Given the description of an element on the screen output the (x, y) to click on. 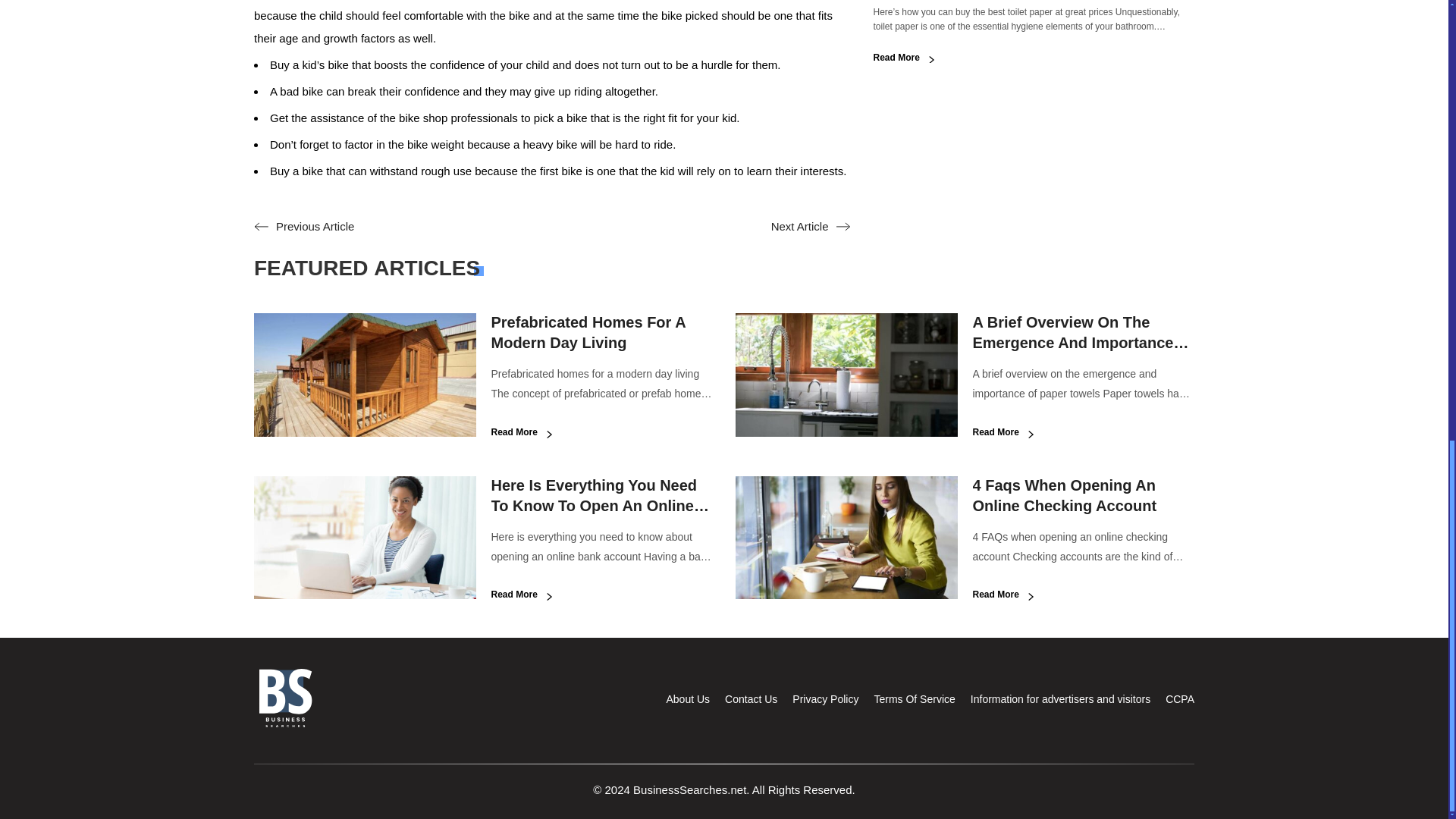
Contact Us (751, 698)
Privacy Policy (825, 698)
Terms Of Service (914, 698)
Information for advertisers and visitors (1060, 698)
CCPA (1179, 698)
About Us (687, 698)
